Given the description of an element on the screen output the (x, y) to click on. 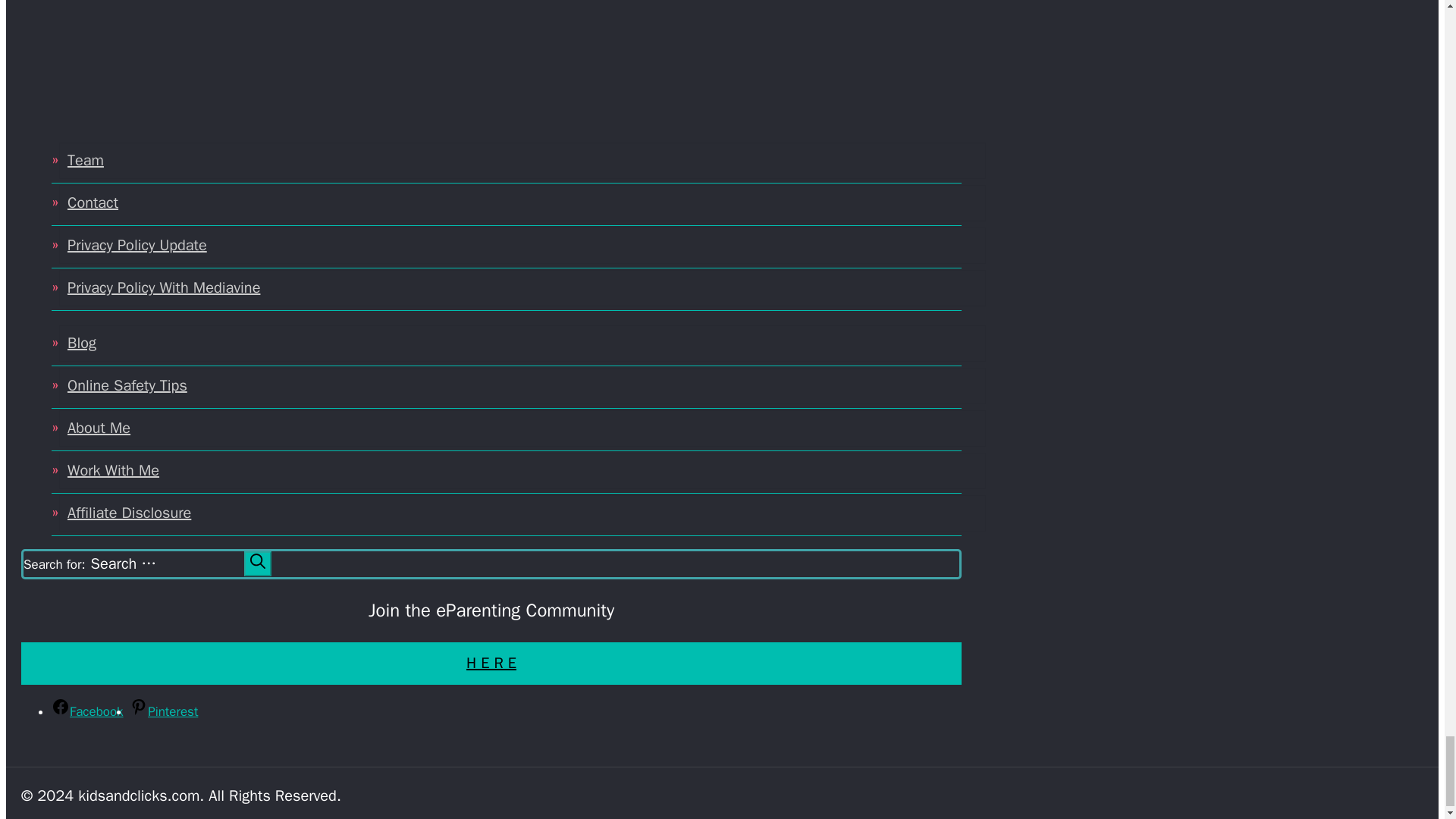
Search for: (164, 563)
